Given the description of an element on the screen output the (x, y) to click on. 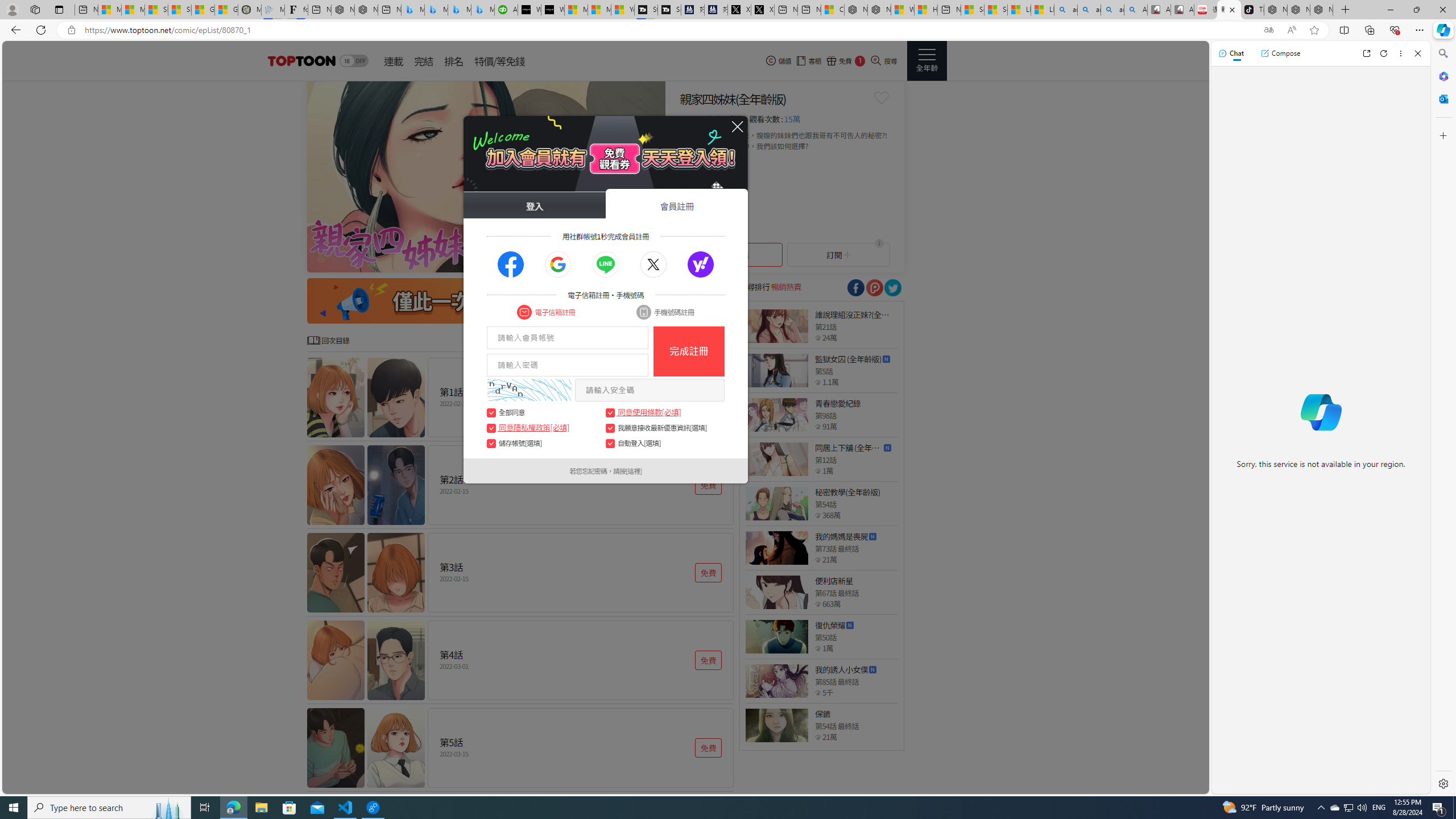
Show translate options (1268, 29)
Class: socialBtn actionSocialJoinBtn (701, 264)
More options (1401, 53)
